Given the description of an element on the screen output the (x, y) to click on. 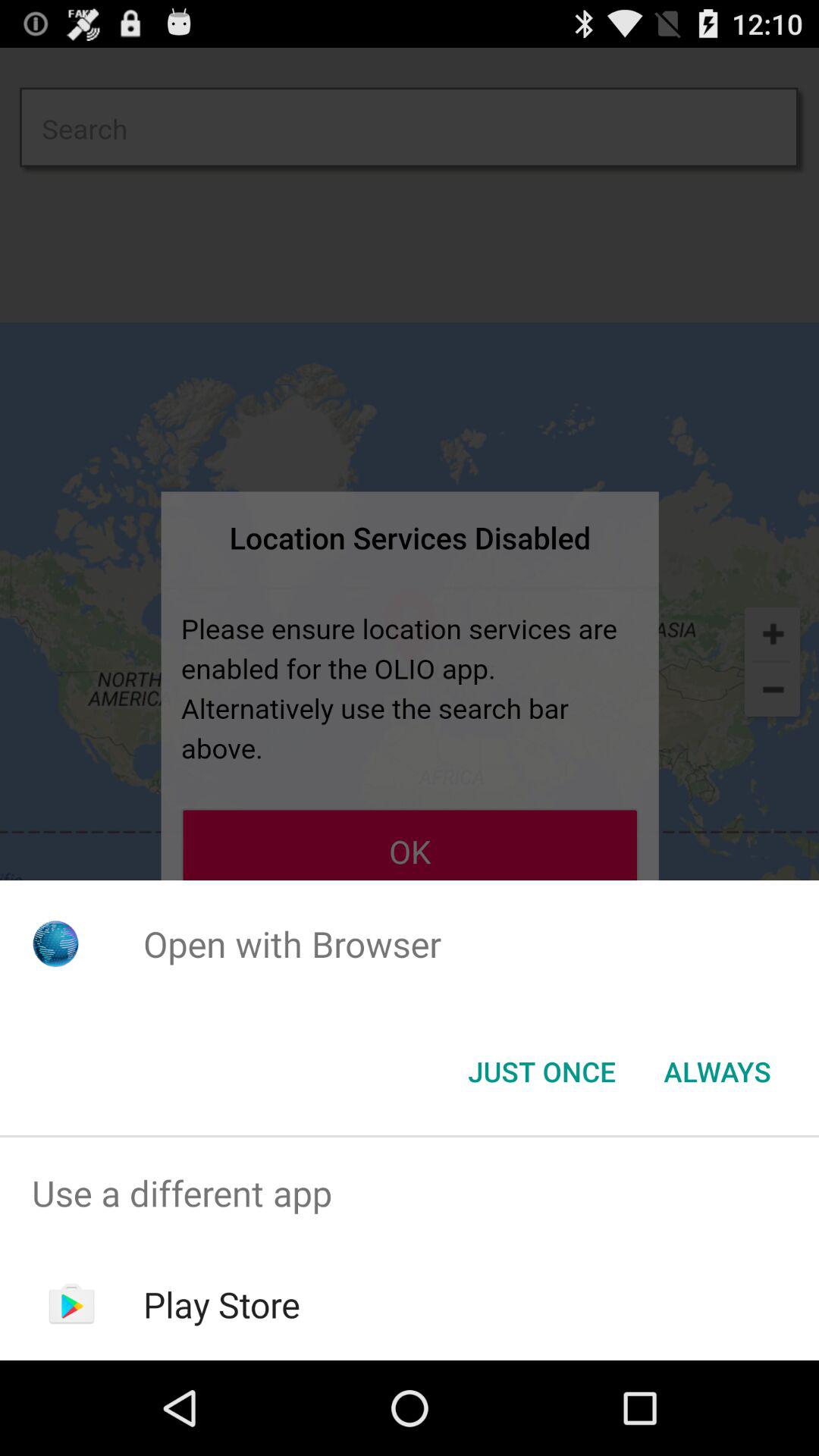
launch the app below open with browser icon (541, 1071)
